Given the description of an element on the screen output the (x, y) to click on. 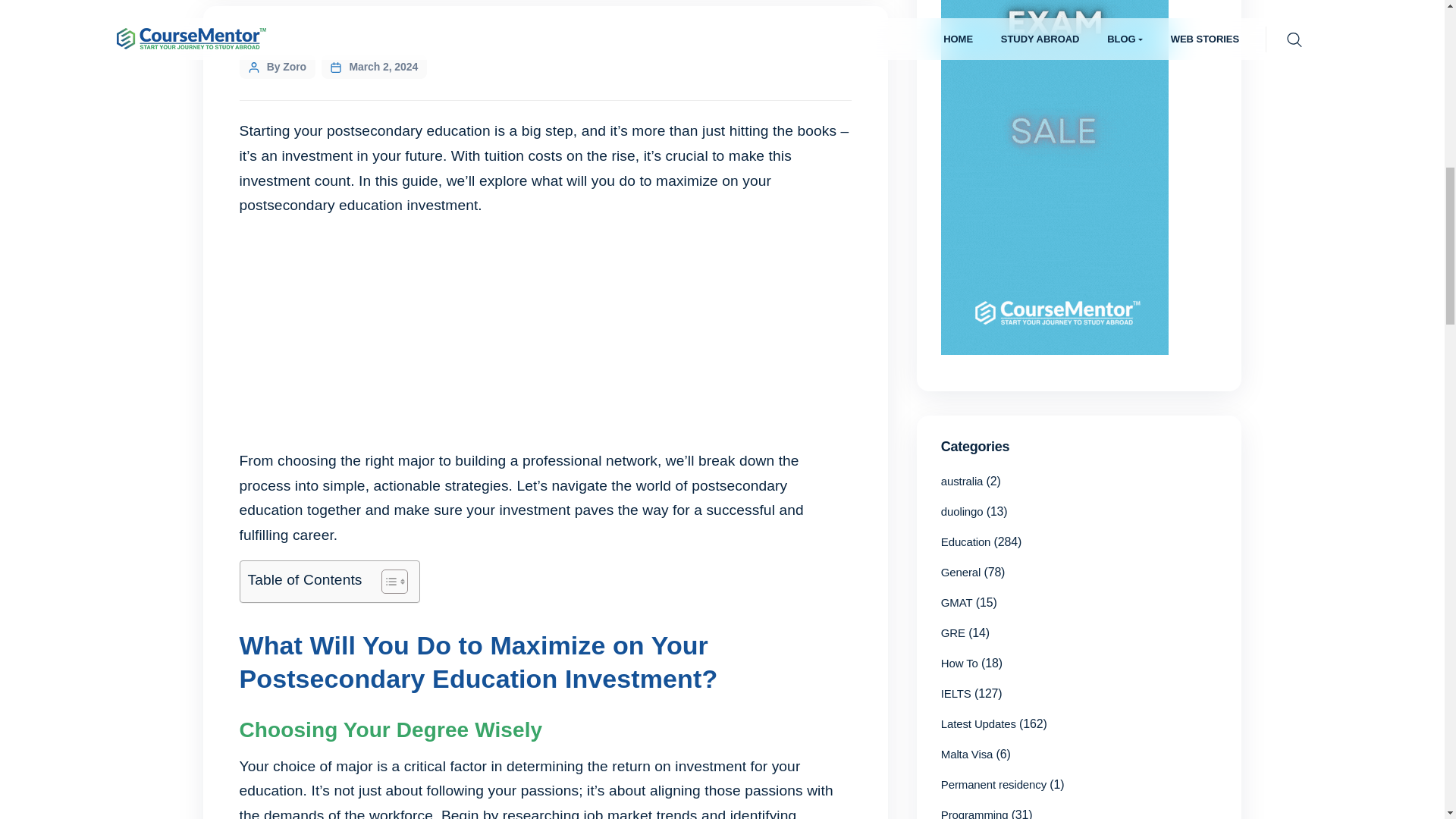
Latest Updates (978, 723)
How To (959, 662)
Education (965, 541)
IELTS (955, 693)
By Zoro (285, 66)
GRE (952, 632)
General (959, 571)
duolingo (962, 511)
australia (961, 481)
Advertisement (545, 336)
GMAT (956, 602)
